Given the description of an element on the screen output the (x, y) to click on. 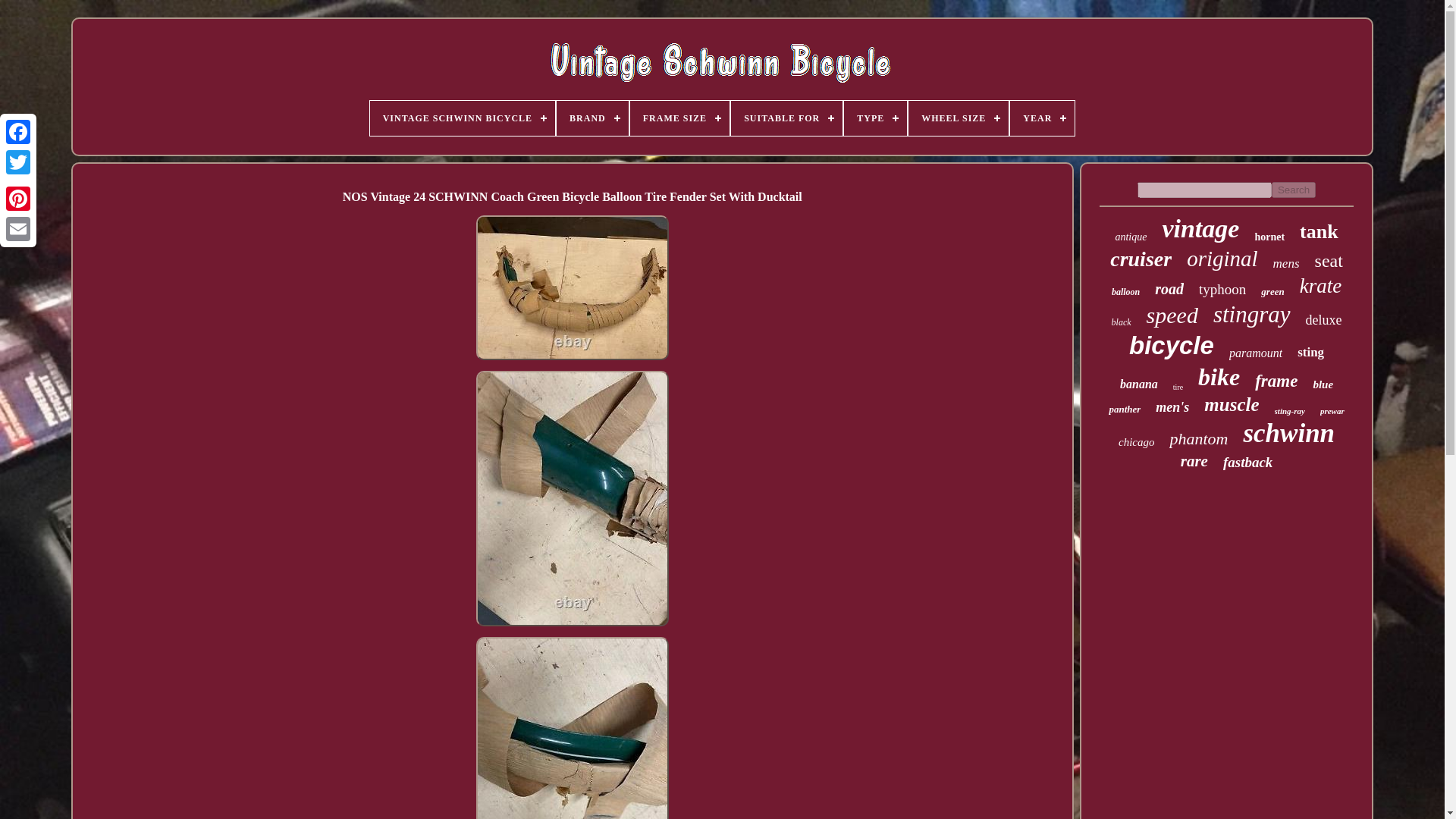
FRAME SIZE (679, 117)
VINTAGE SCHWINN BICYCLE (461, 117)
Search (1293, 189)
BRAND (592, 117)
